Given the description of an element on the screen output the (x, y) to click on. 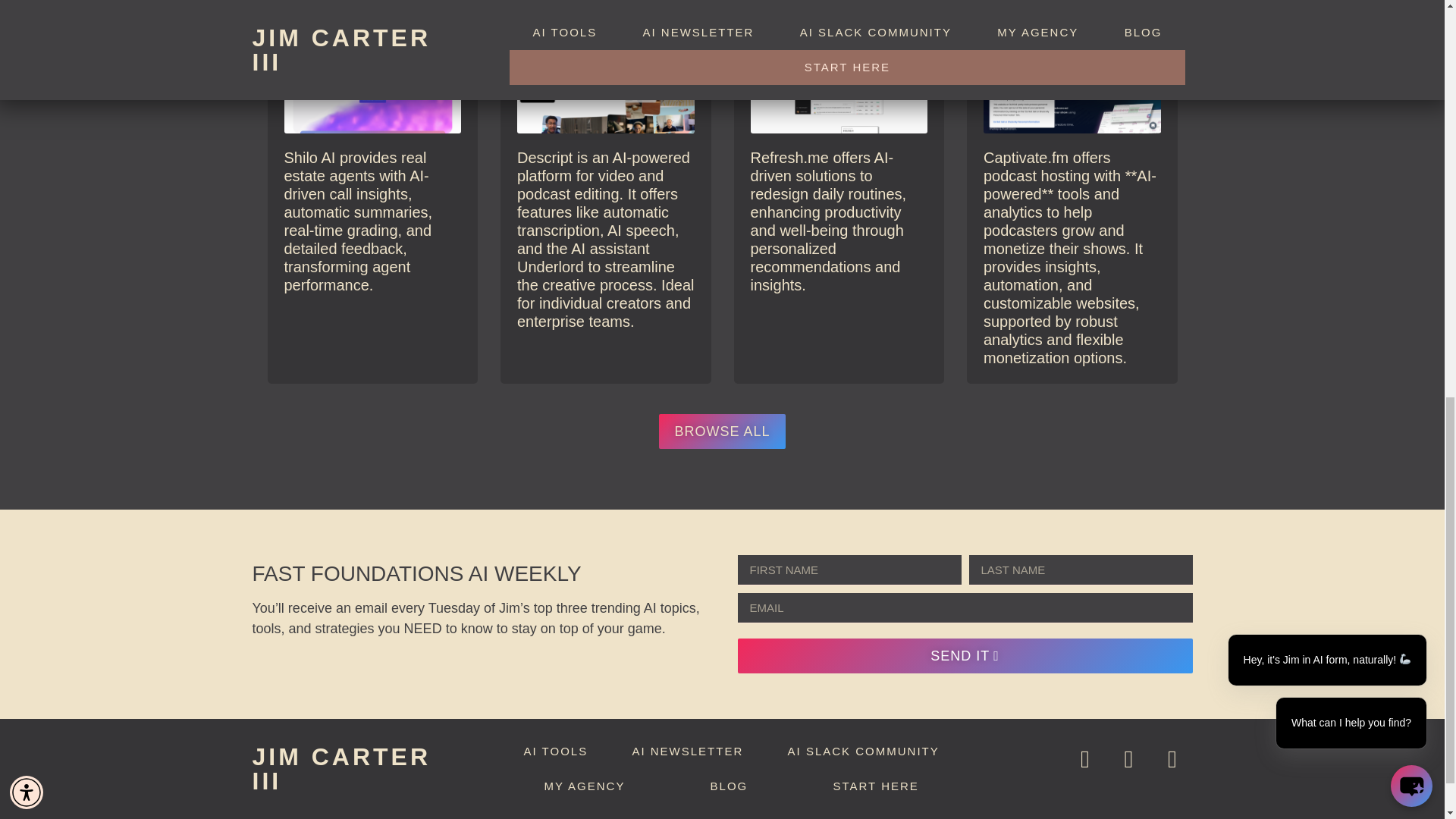
SEND IT (964, 655)
AI TOOLS (555, 751)
BROWSE ALL (721, 431)
JIM CARTER III (340, 768)
AI NEWSLETTER (687, 751)
